Given the description of an element on the screen output the (x, y) to click on. 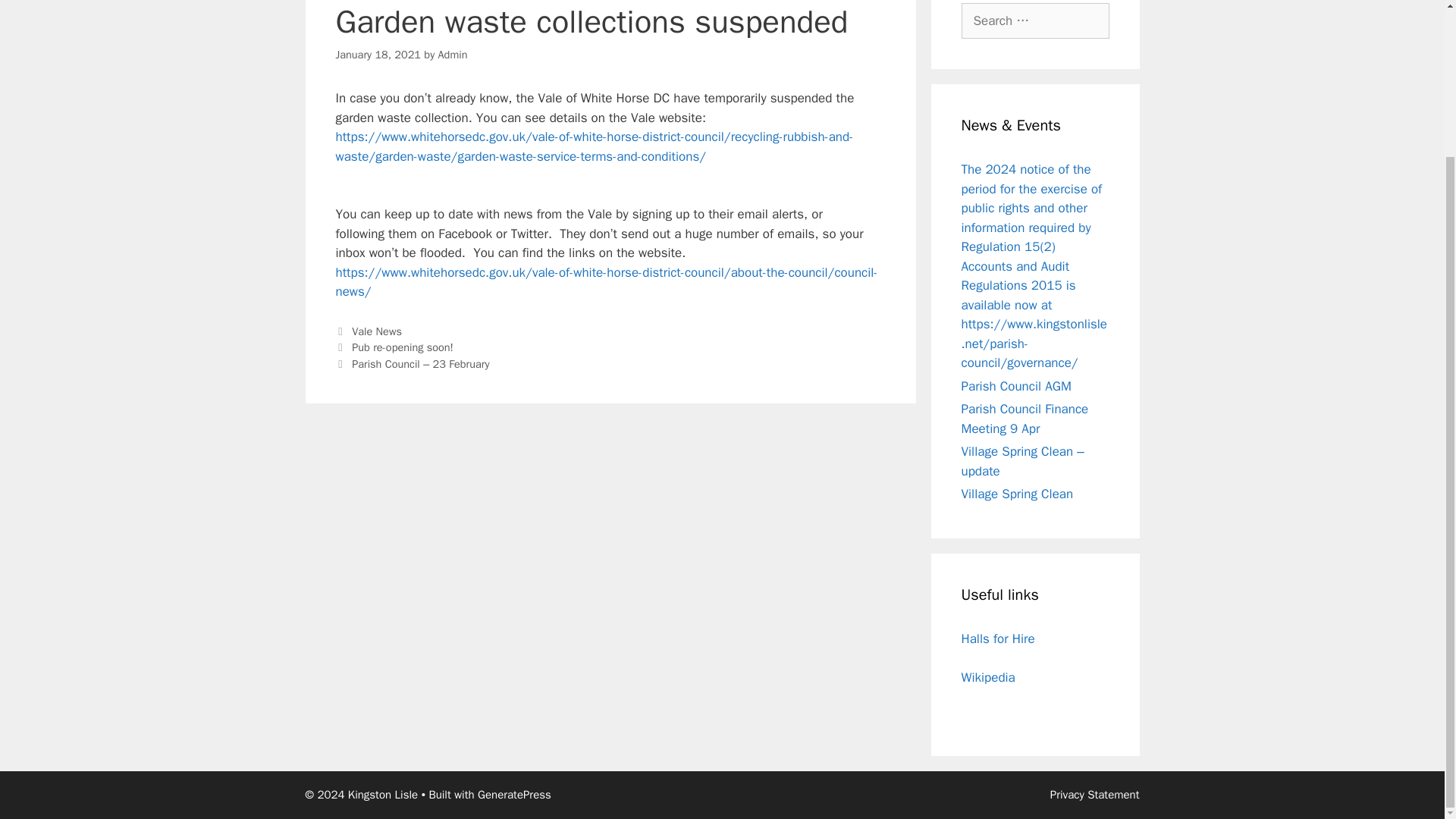
Wikipedia (987, 677)
Pub re-opening soon! (402, 346)
Privacy Statement (1094, 794)
GeneratePress (514, 794)
Village Spring Clean (1017, 494)
View all posts by Admin (452, 54)
Vale News (376, 331)
Parish Council AGM (1015, 385)
Parish Council Finance Meeting 9 Apr (1024, 418)
Halls for Hire (997, 638)
Admin (452, 54)
Search for: (1034, 21)
